Given the description of an element on the screen output the (x, y) to click on. 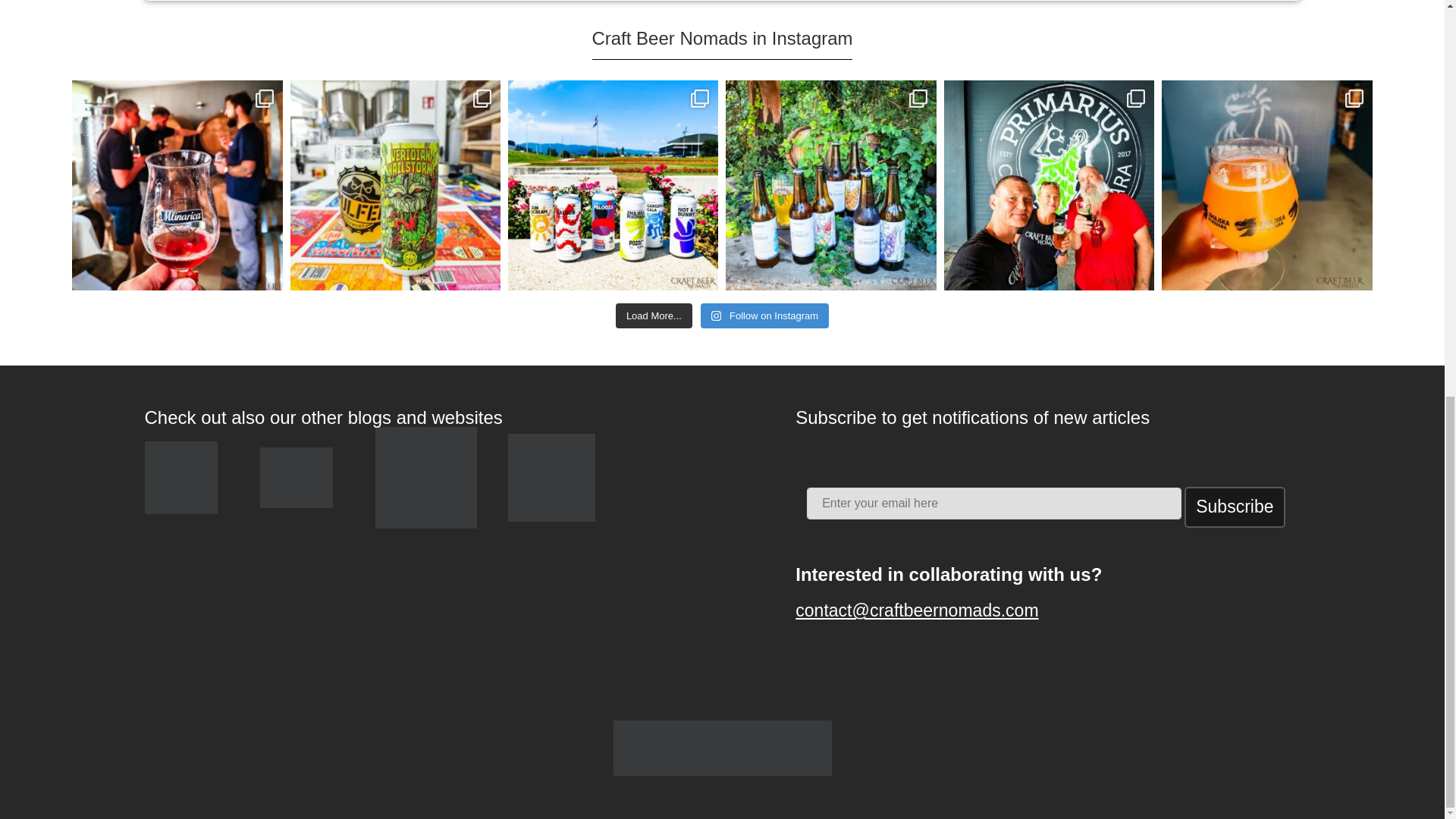
Load More... (654, 316)
Subscribe (1234, 506)
Follow on Instagram (764, 316)
Subscribe (1234, 506)
